Given the description of an element on the screen output the (x, y) to click on. 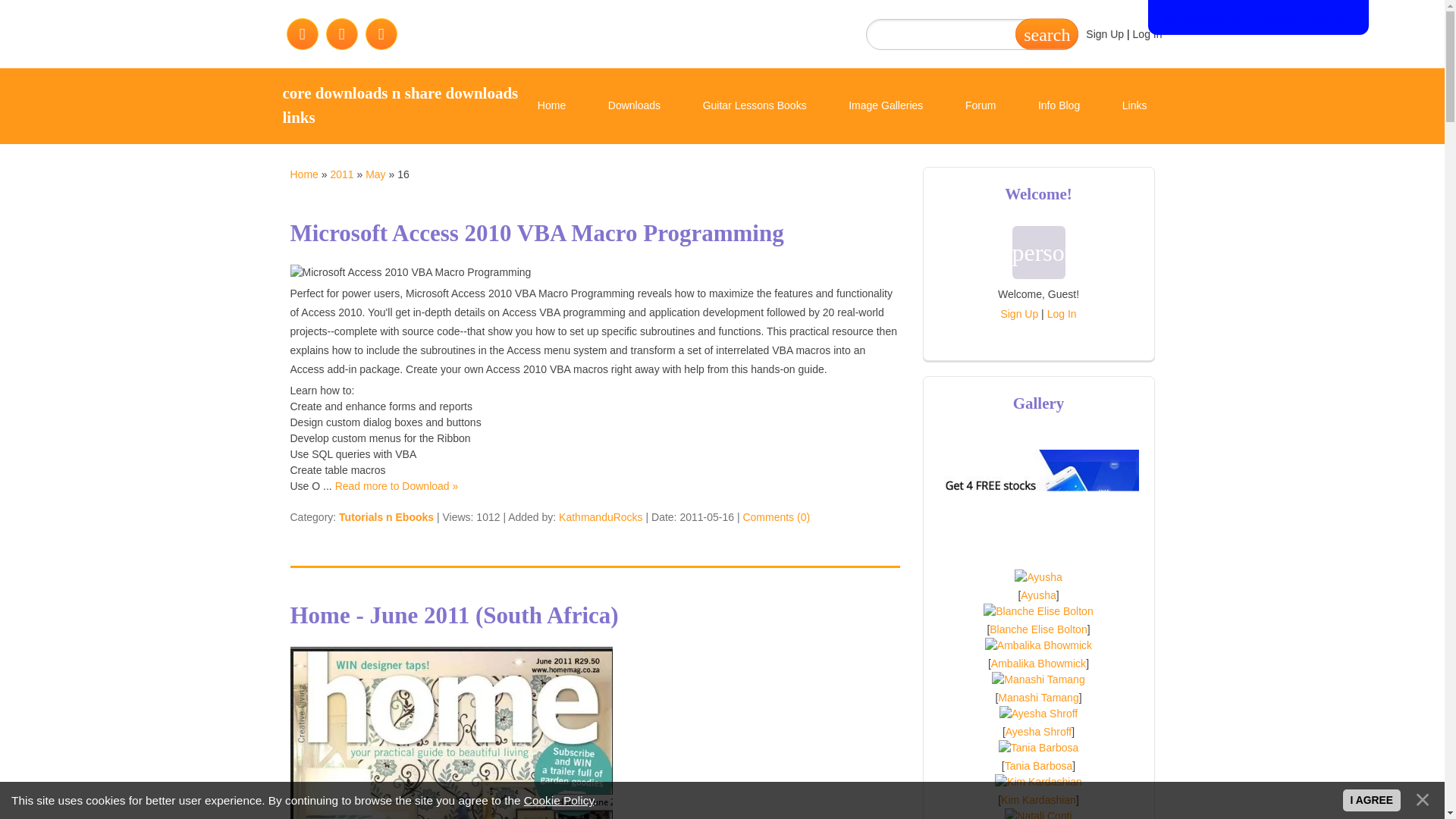
Mp3 Downloads (776, 182)
Watch Movies (570, 182)
core downloads n share downloads links (400, 105)
Guitar Lessons Books (754, 105)
Downloads (633, 105)
Search (1046, 33)
8:49 AM (706, 517)
Image Galleries (884, 105)
Search (1046, 33)
2011 (341, 174)
